Given the description of an element on the screen output the (x, y) to click on. 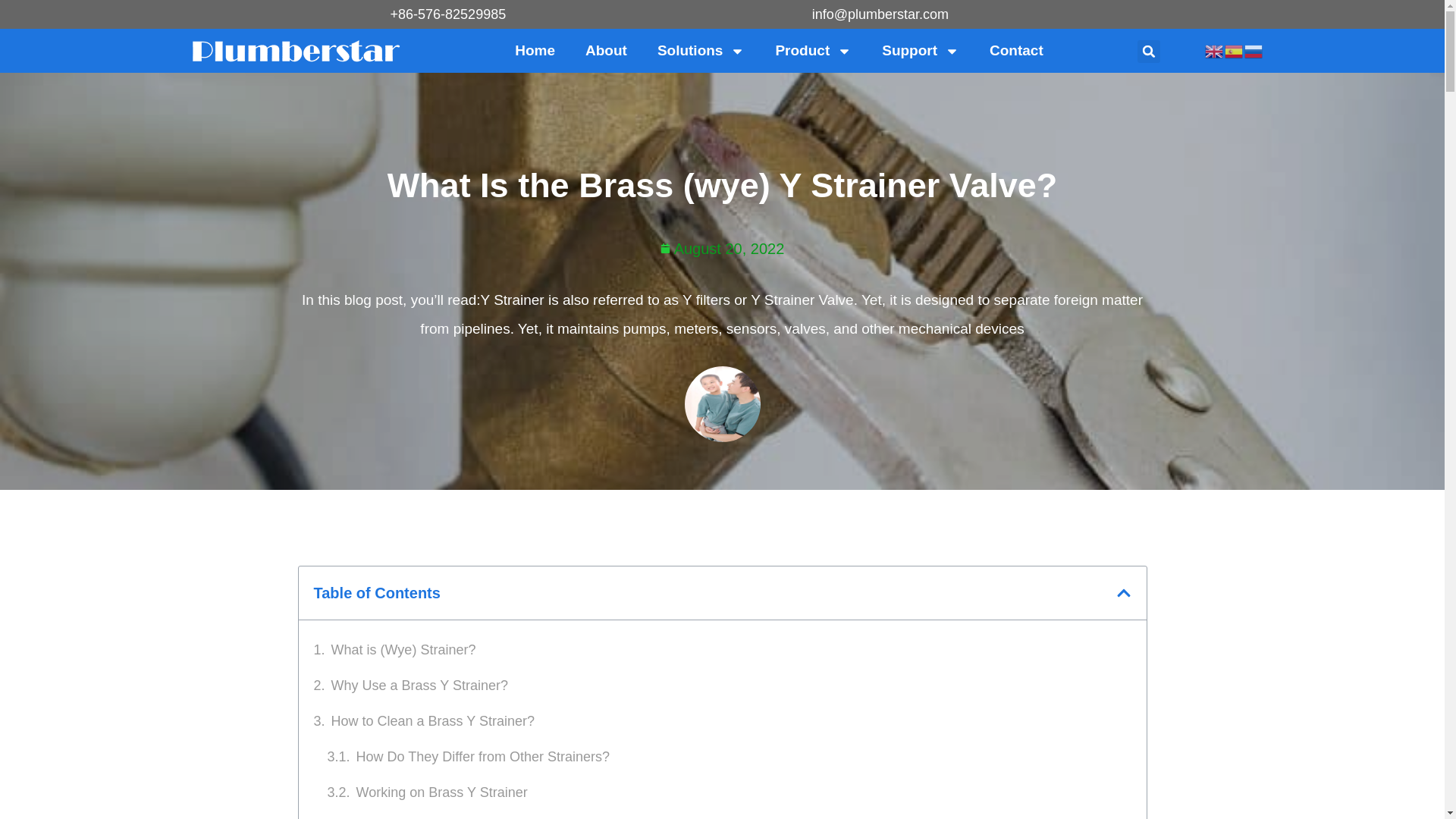
Product (813, 50)
Spanish (1233, 50)
Russian (1253, 50)
Contact (1016, 50)
Support (920, 50)
Home (534, 50)
Solutions (701, 50)
About (606, 50)
English (1214, 50)
